Given the description of an element on the screen output the (x, y) to click on. 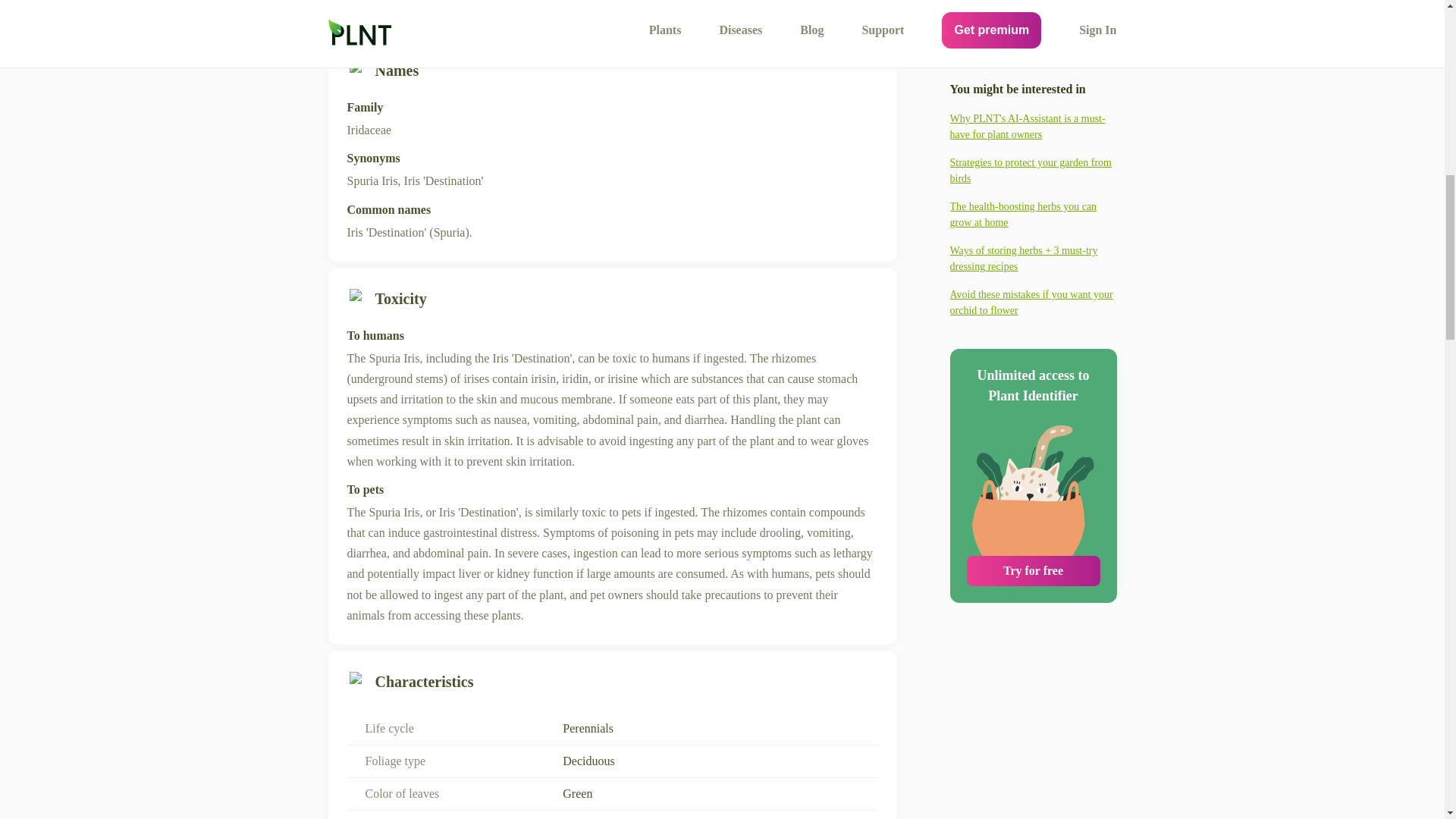
The health-boosting herbs you can grow at home (1032, 48)
Try for free (1032, 404)
Strategies to protect your garden from birds (1032, 10)
Avoid these mistakes if you want your orchid to flower (1032, 136)
